Given the description of an element on the screen output the (x, y) to click on. 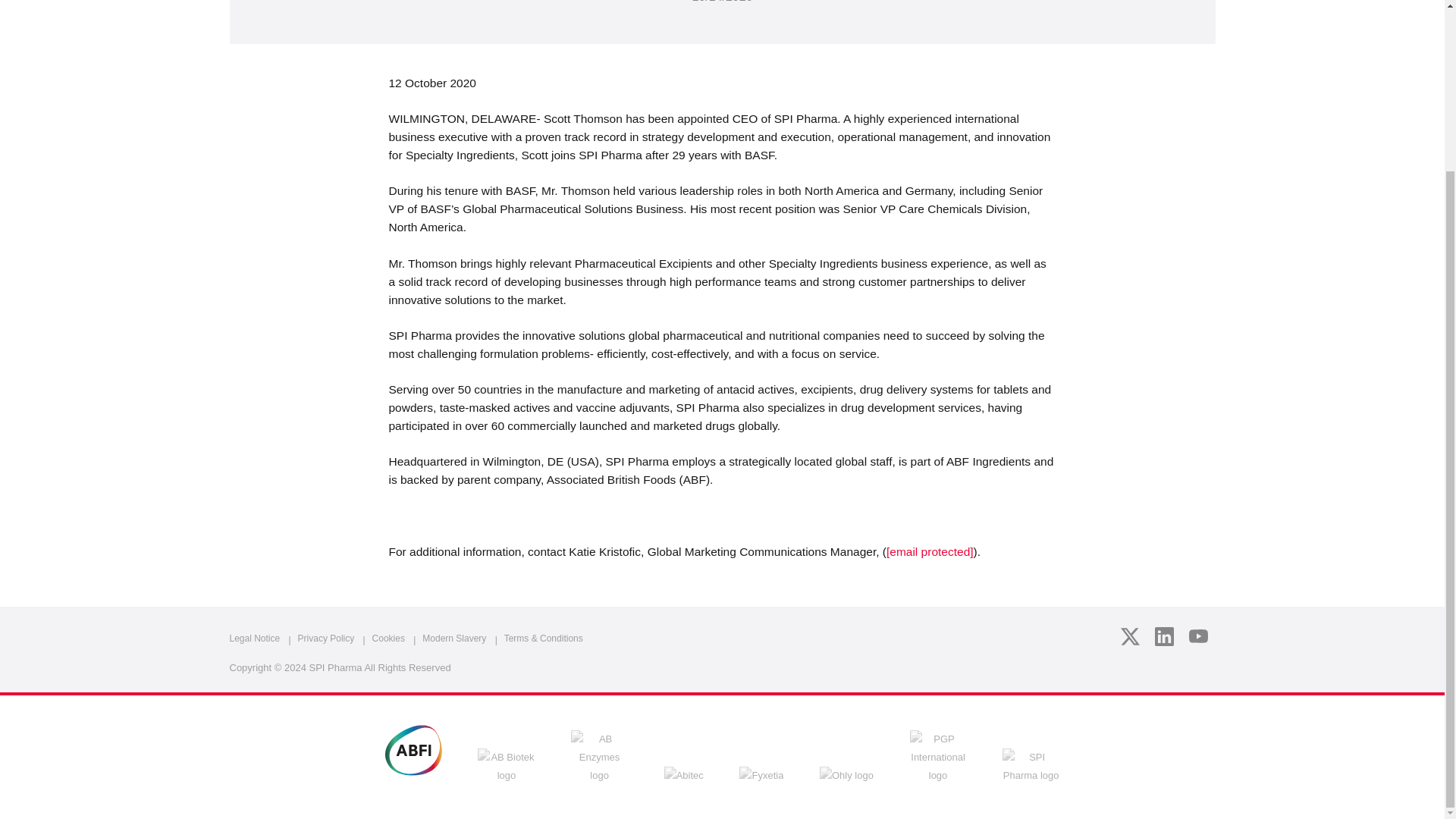
Fyxetia (761, 775)
Abitec (683, 775)
AB Enzymes (598, 757)
SPI Pharma (1031, 766)
PGP International (938, 757)
AB Biotek (505, 766)
ABFI (413, 752)
Ohly (846, 775)
